Given the description of an element on the screen output the (x, y) to click on. 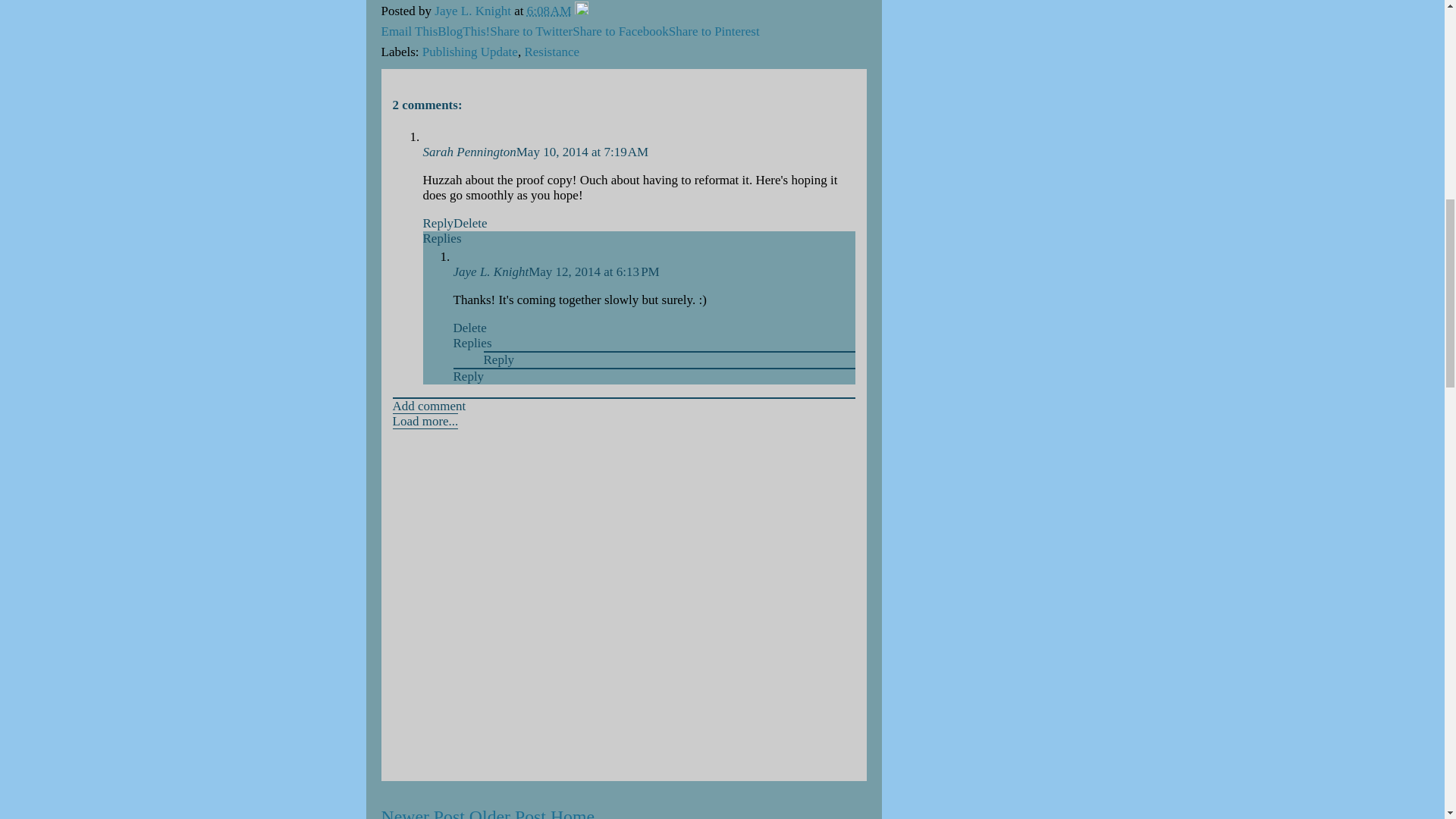
Older Post (507, 812)
Jaye L. Knight (490, 271)
Delete (469, 223)
Email This (409, 31)
Sarah Pennington (469, 151)
Share to Facebook (620, 31)
Publishing Update (470, 51)
Newer Post (422, 812)
Replies (442, 237)
Older Post (507, 812)
Resistance (551, 51)
Email This (409, 31)
Edit Post (581, 11)
Add comment (429, 405)
Share to Twitter (530, 31)
